Given the description of an element on the screen output the (x, y) to click on. 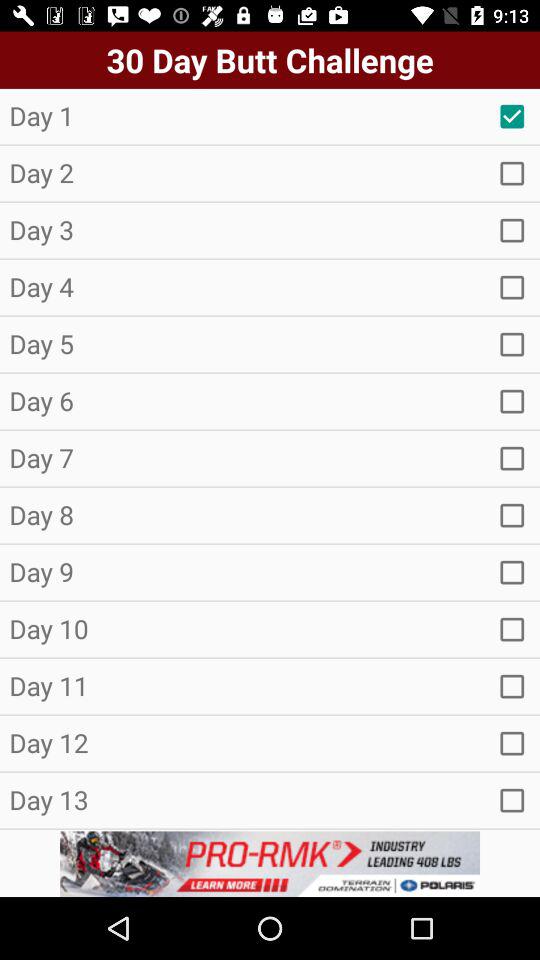
new page (512, 287)
